Given the description of an element on the screen output the (x, y) to click on. 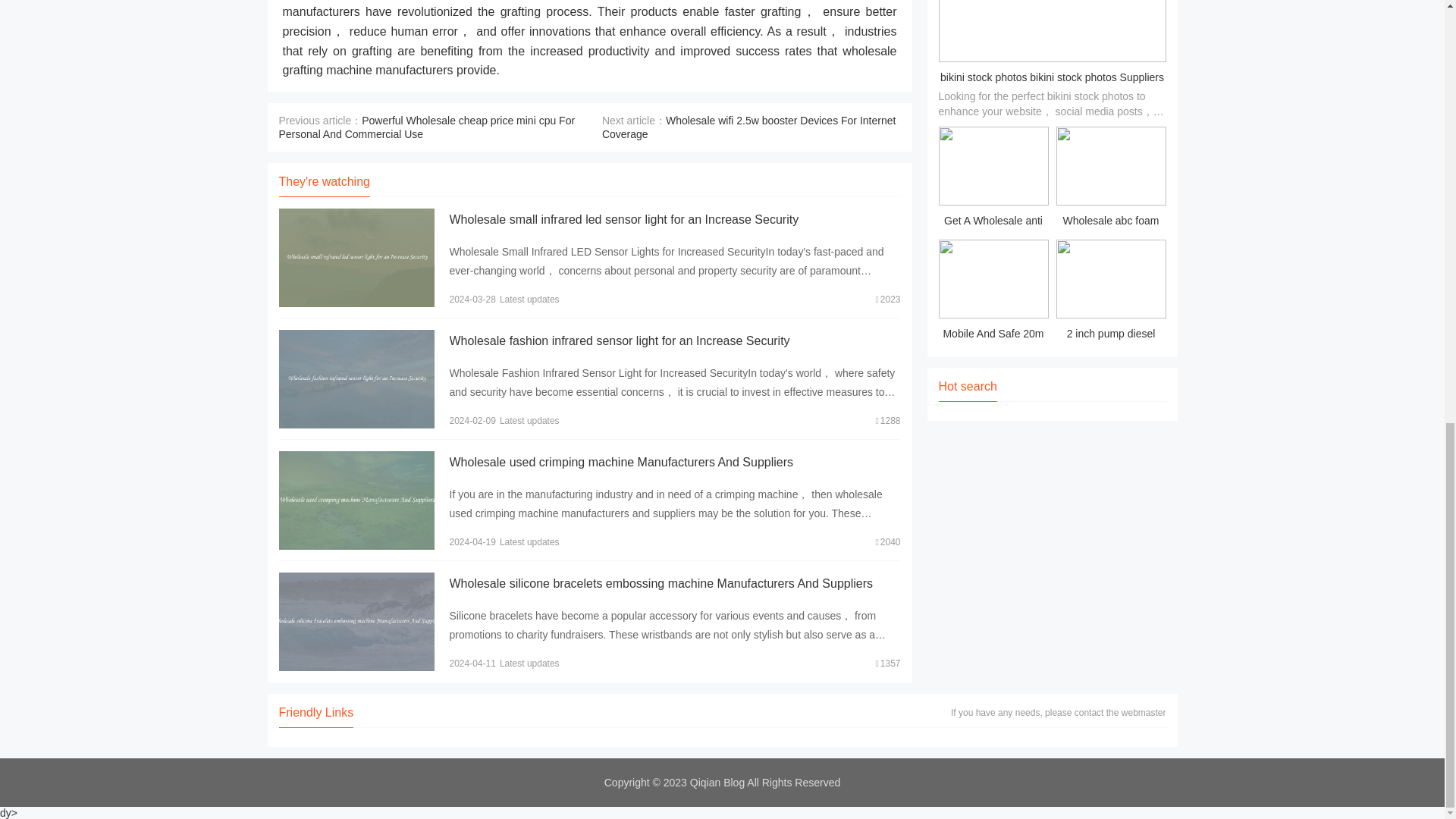
Wholesale used crimping machine Manufacturers And Suppliers (620, 461)
2 inch pump diesel engine With Unsurpassed Efficient Outputs (1110, 291)
Get A Wholesale anti hail system For Property Protection (993, 178)
Mobile And Safe 20m high altitude aerial working truck (993, 291)
Wholesale wifi 2.5w booster Devices For Internet Coverage (749, 127)
